Given the description of an element on the screen output the (x, y) to click on. 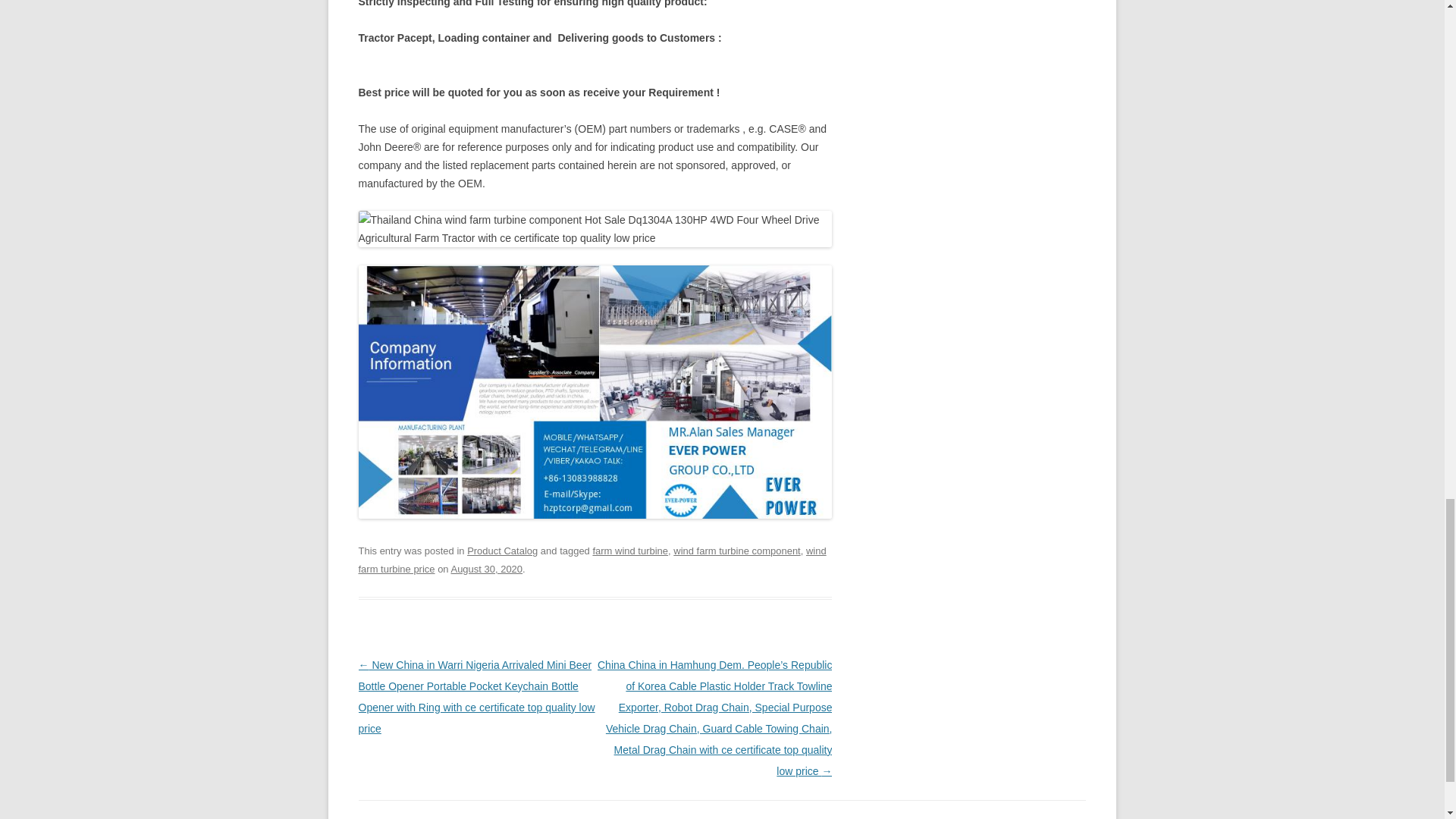
9:22 pm (485, 568)
wind farm turbine price (591, 559)
wind farm turbine component (735, 550)
Product Catalog (502, 550)
farm wind turbine (630, 550)
August 30, 2020 (485, 568)
